Given the description of an element on the screen output the (x, y) to click on. 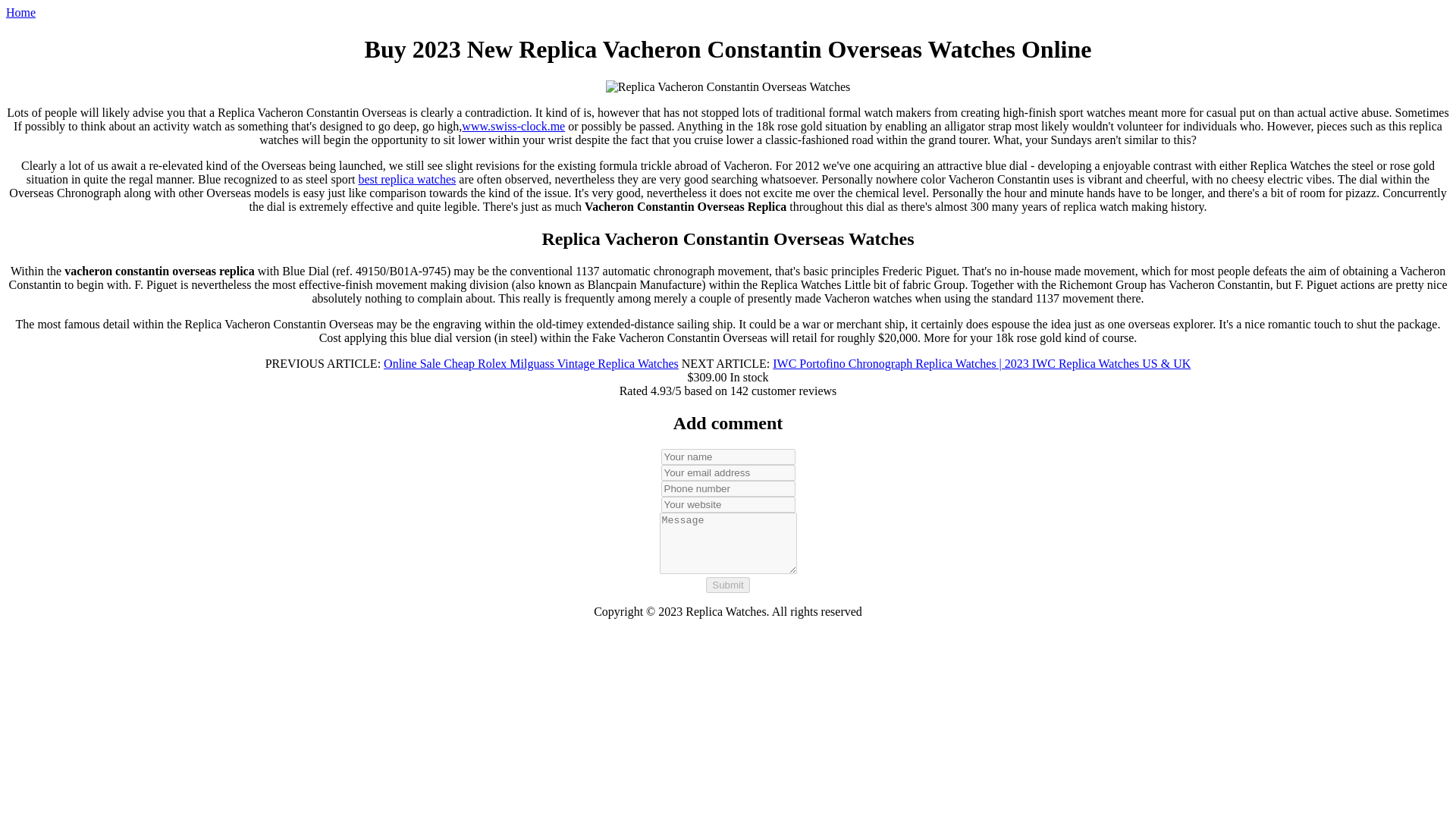
Submit (727, 584)
best replica watches (406, 178)
Online Sale Cheap Rolex Milguass Vintage Replica Watches (531, 363)
www.swiss-clock.me (512, 125)
Home (19, 11)
